Given the description of an element on the screen output the (x, y) to click on. 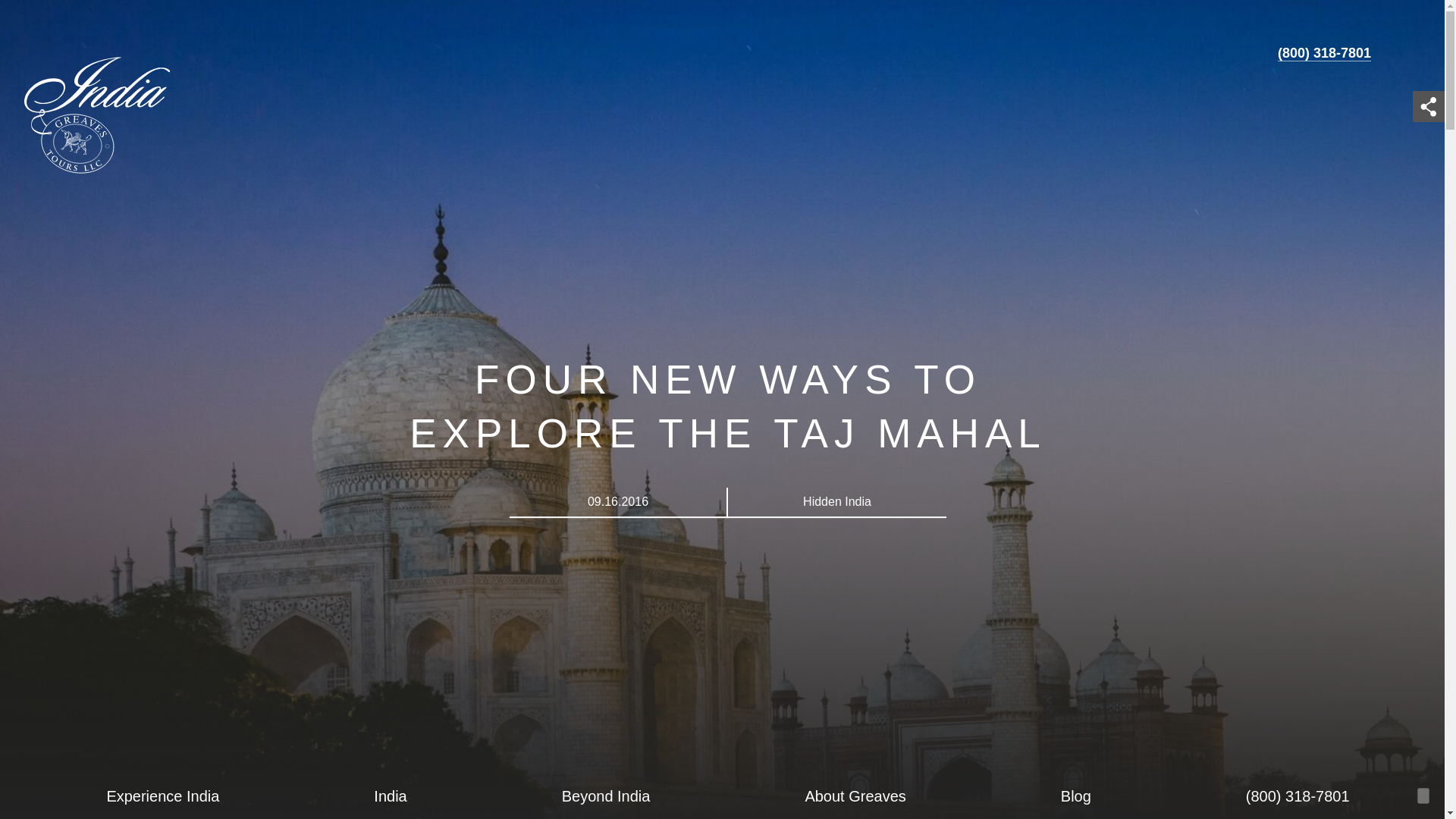
Beyond India (605, 796)
Experience India (162, 796)
India (390, 796)
Blog (1075, 796)
Hidden India (836, 502)
About Greaves (854, 796)
